Given the description of an element on the screen output the (x, y) to click on. 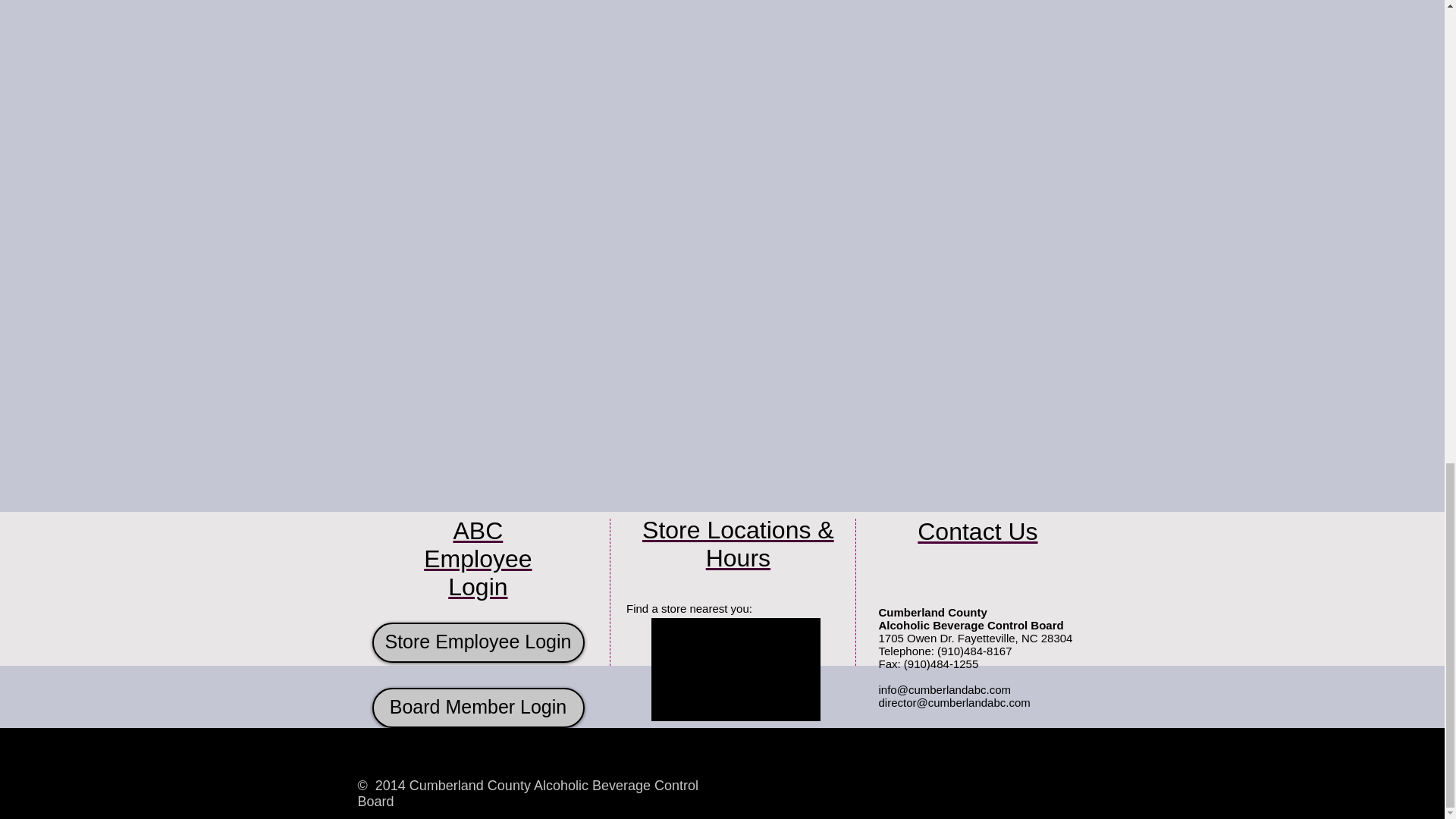
Store Employee Login (477, 642)
Find a store nearest you: (689, 608)
Board Member Login (477, 707)
